Given the description of an element on the screen output the (x, y) to click on. 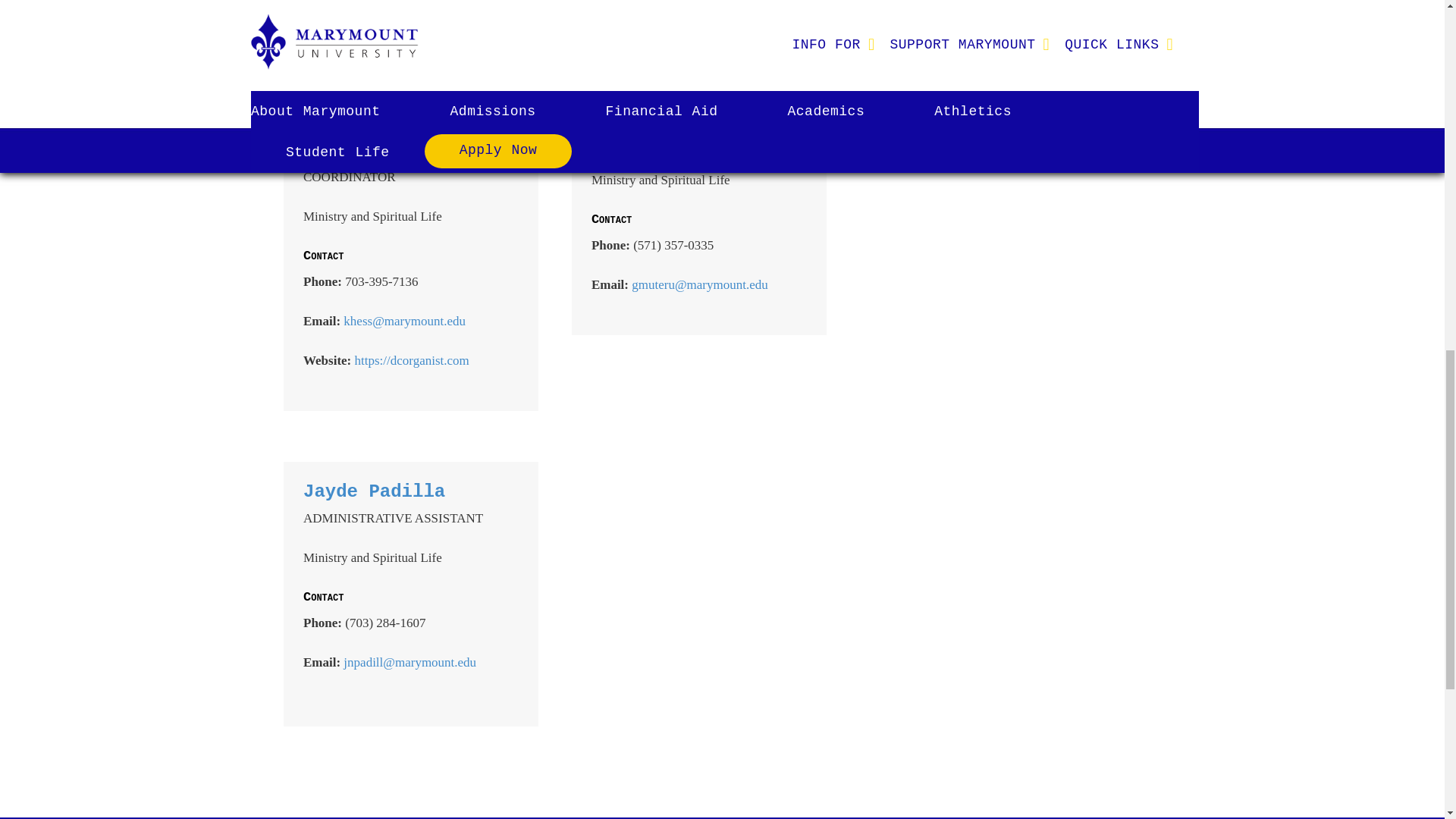
Search (922, 124)
